Given the description of an element on the screen output the (x, y) to click on. 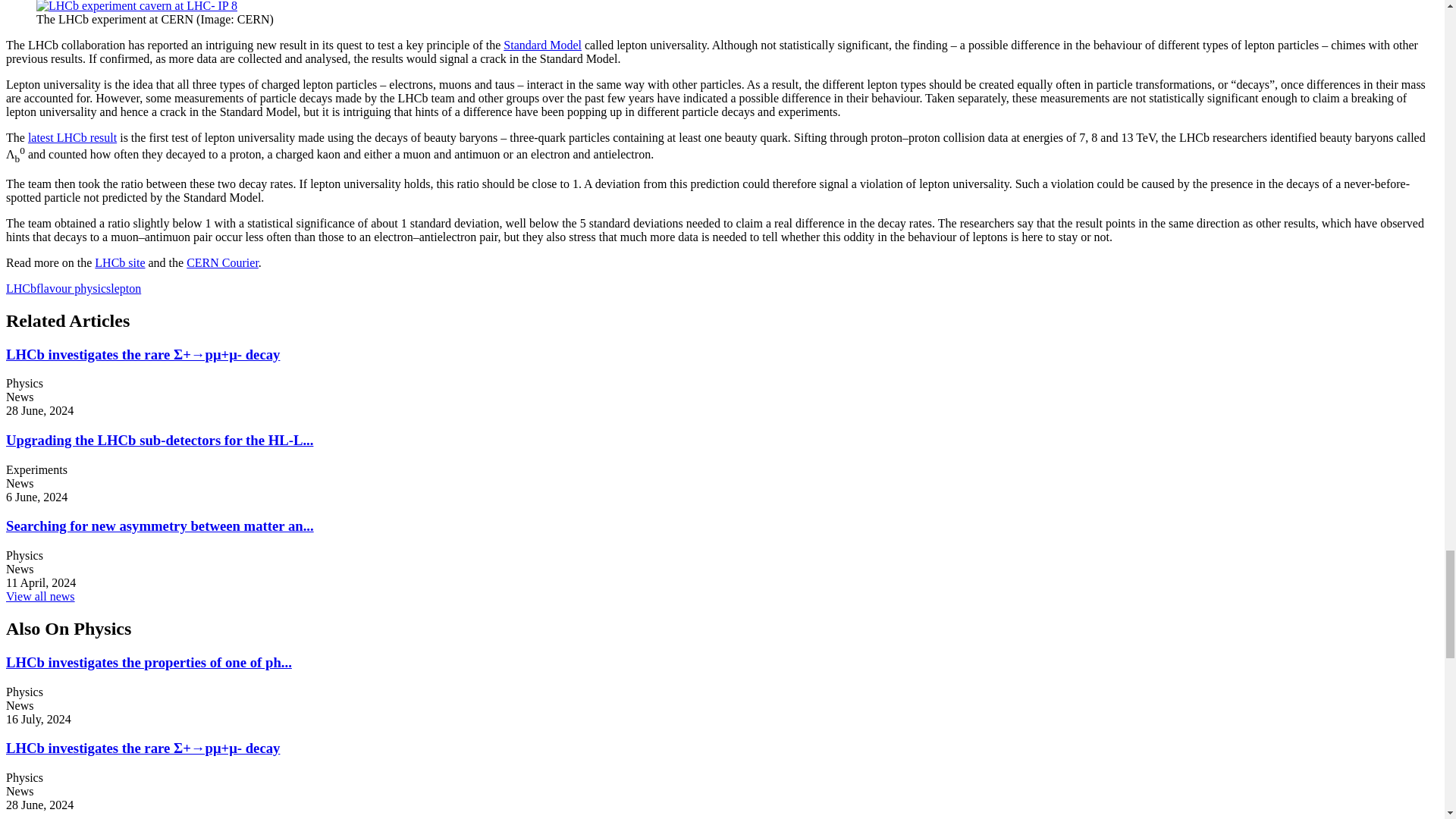
View on CDS (136, 6)
Searching for new asymmetry between matter and antimatter (159, 525)
Upgrading the LHCb sub-detectors for the HL-LHC (159, 439)
